Given the description of an element on the screen output the (x, y) to click on. 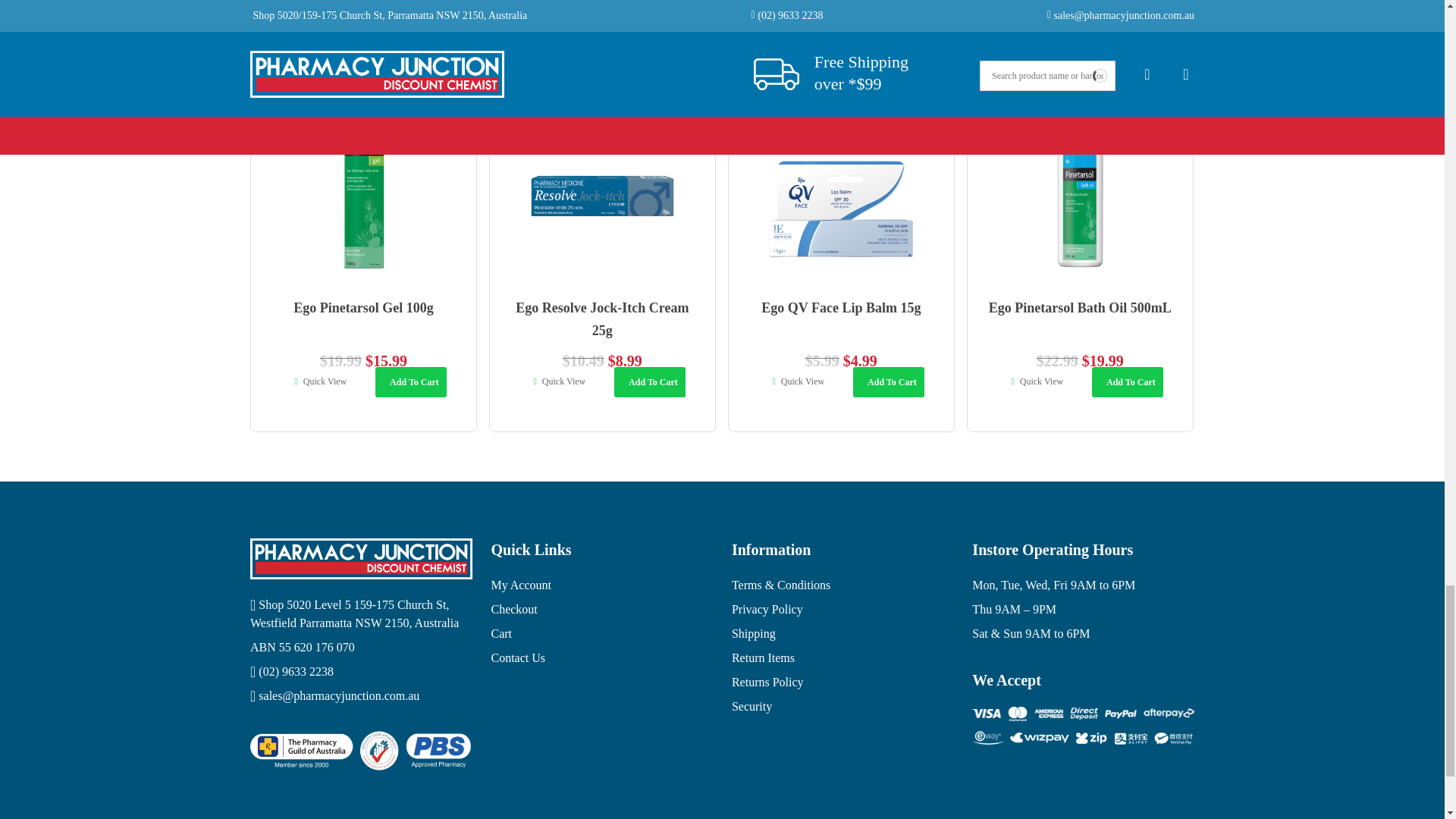
Our Address (360, 614)
How PayPal Works (1082, 726)
Phone (360, 671)
Mail Us (360, 696)
